Given the description of an element on the screen output the (x, y) to click on. 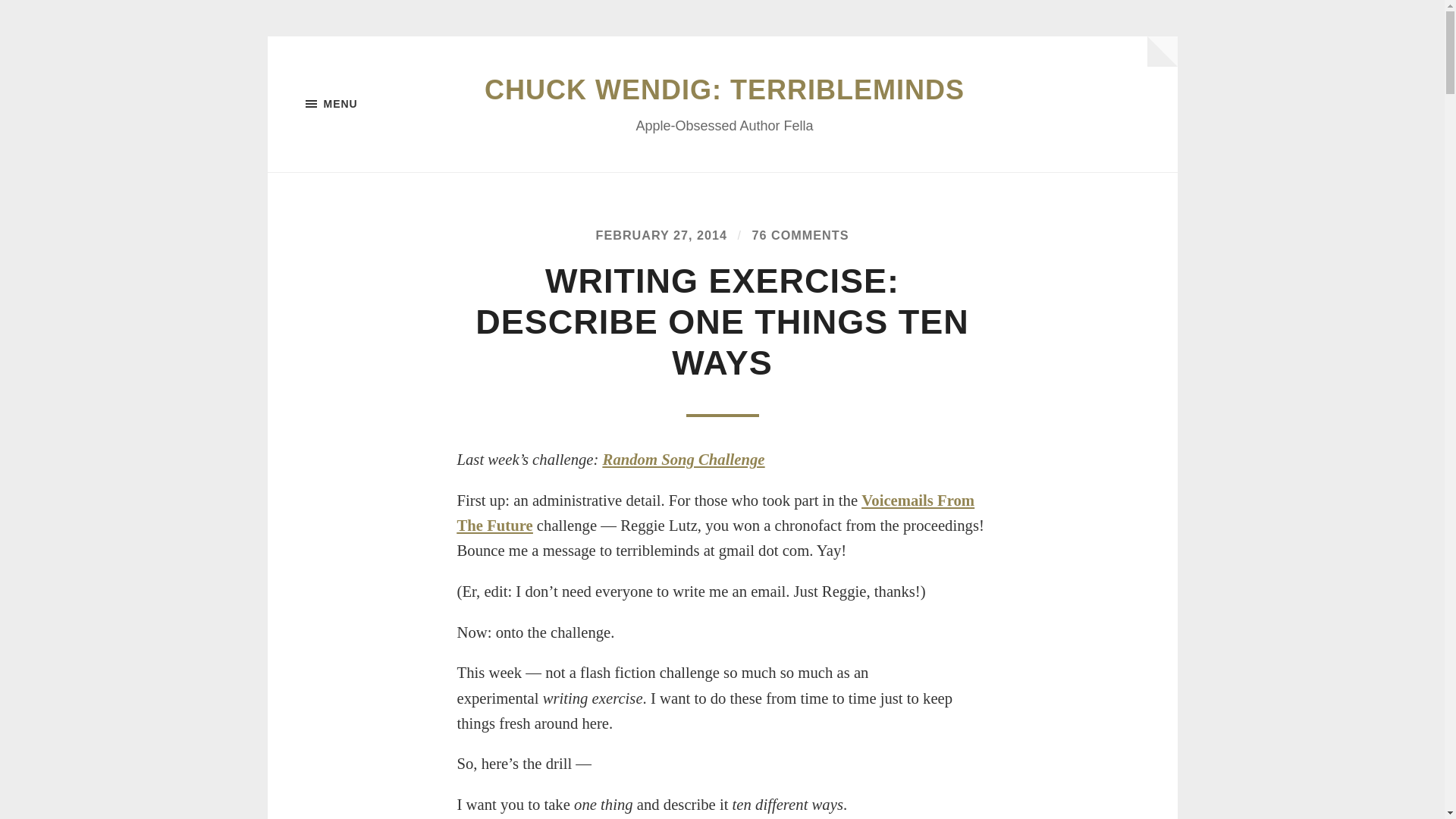
76 COMMENTS (800, 234)
FEBRUARY 27, 2014 (661, 234)
CHUCK WENDIG: TERRIBLEMINDS (723, 89)
MENU (380, 103)
Voicemails From The Future (715, 512)
Random Song Challenge (683, 459)
